Given the description of an element on the screen output the (x, y) to click on. 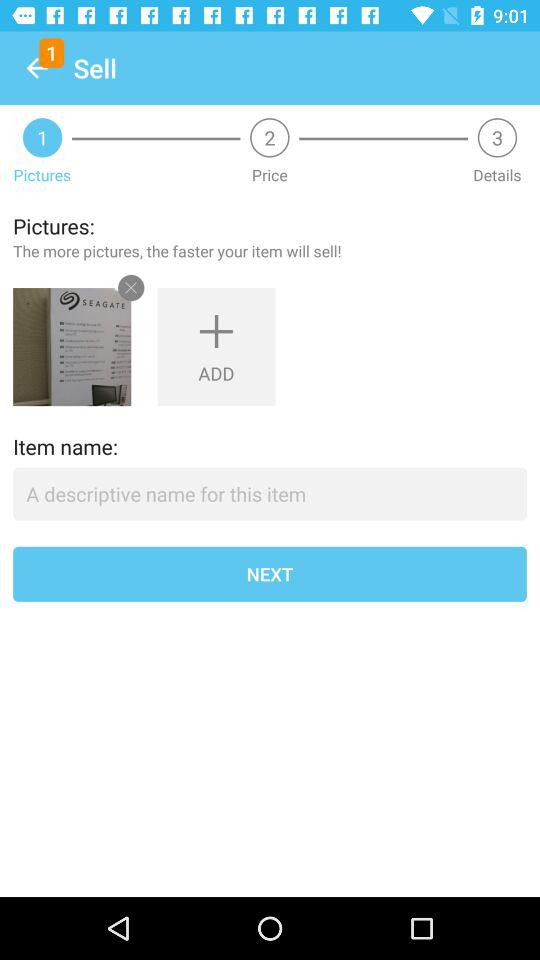
turn on item to the left of the sell icon (36, 68)
